Given the description of an element on the screen output the (x, y) to click on. 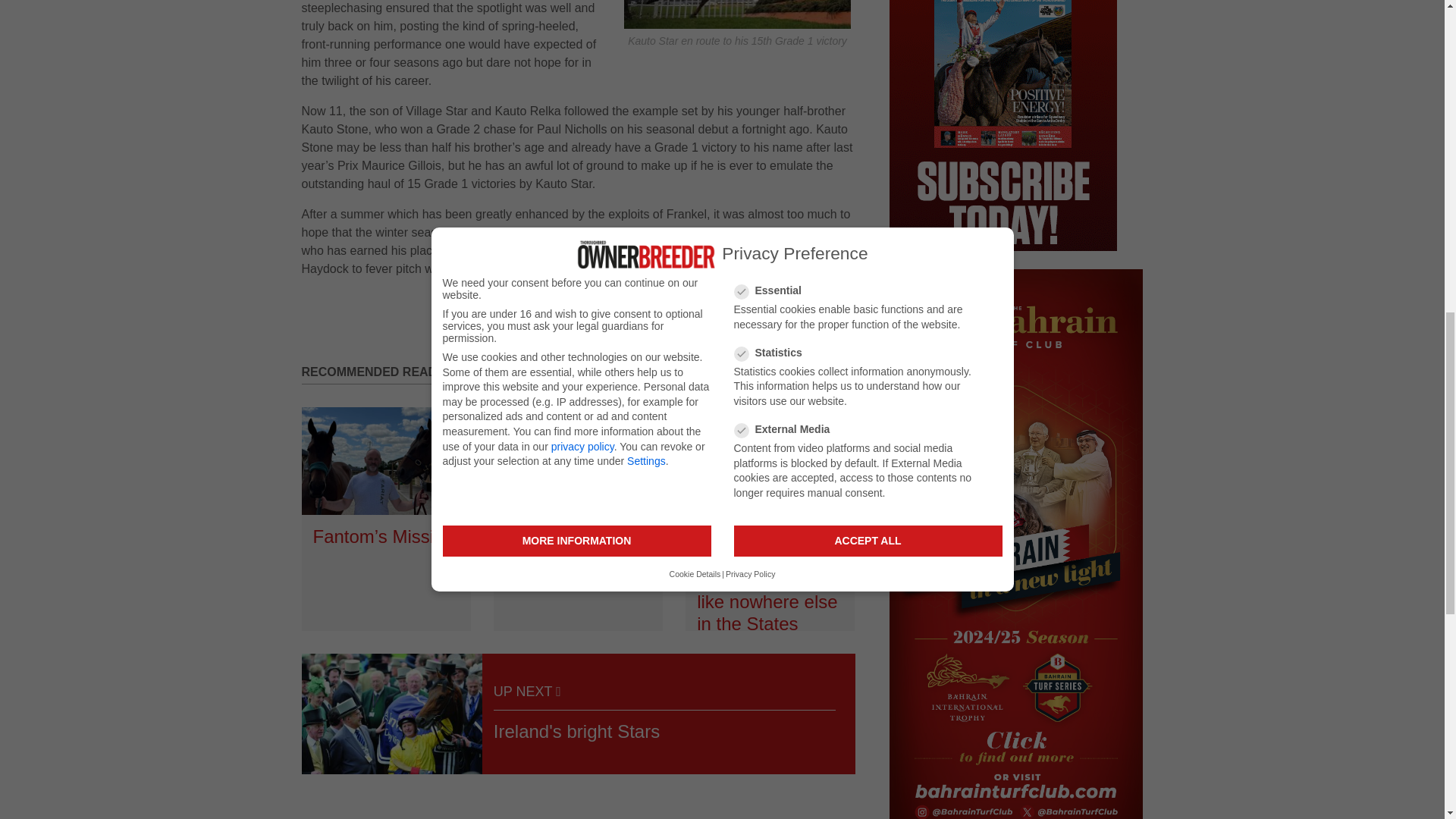
KAUTO STAR (737, 14)
